Given the description of an element on the screen output the (x, y) to click on. 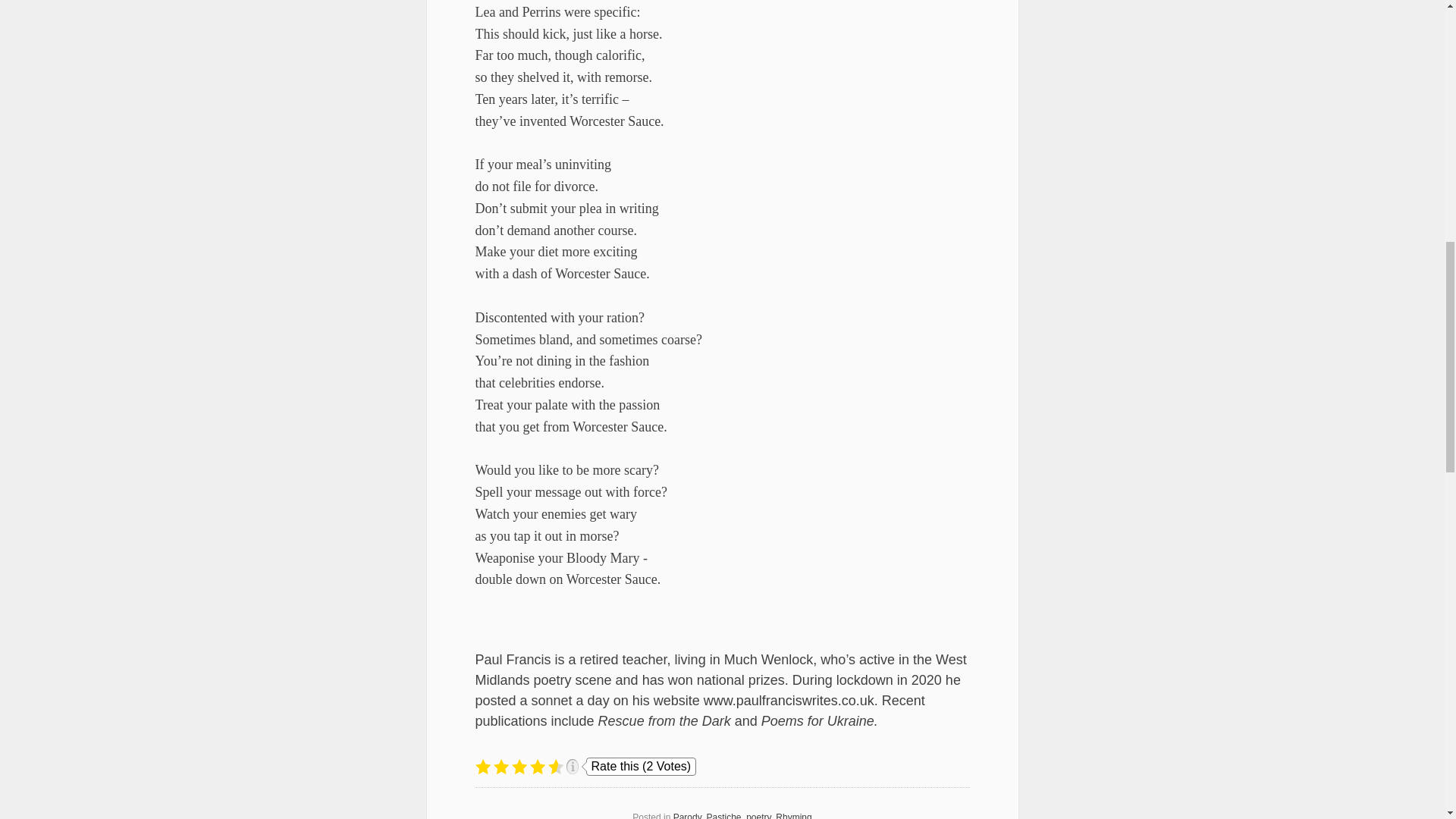
Parody (686, 815)
poetry (757, 815)
www.paulfranciswrites.co.uk (789, 700)
Rhyming (793, 815)
Pastiche (723, 815)
